Given the description of an element on the screen output the (x, y) to click on. 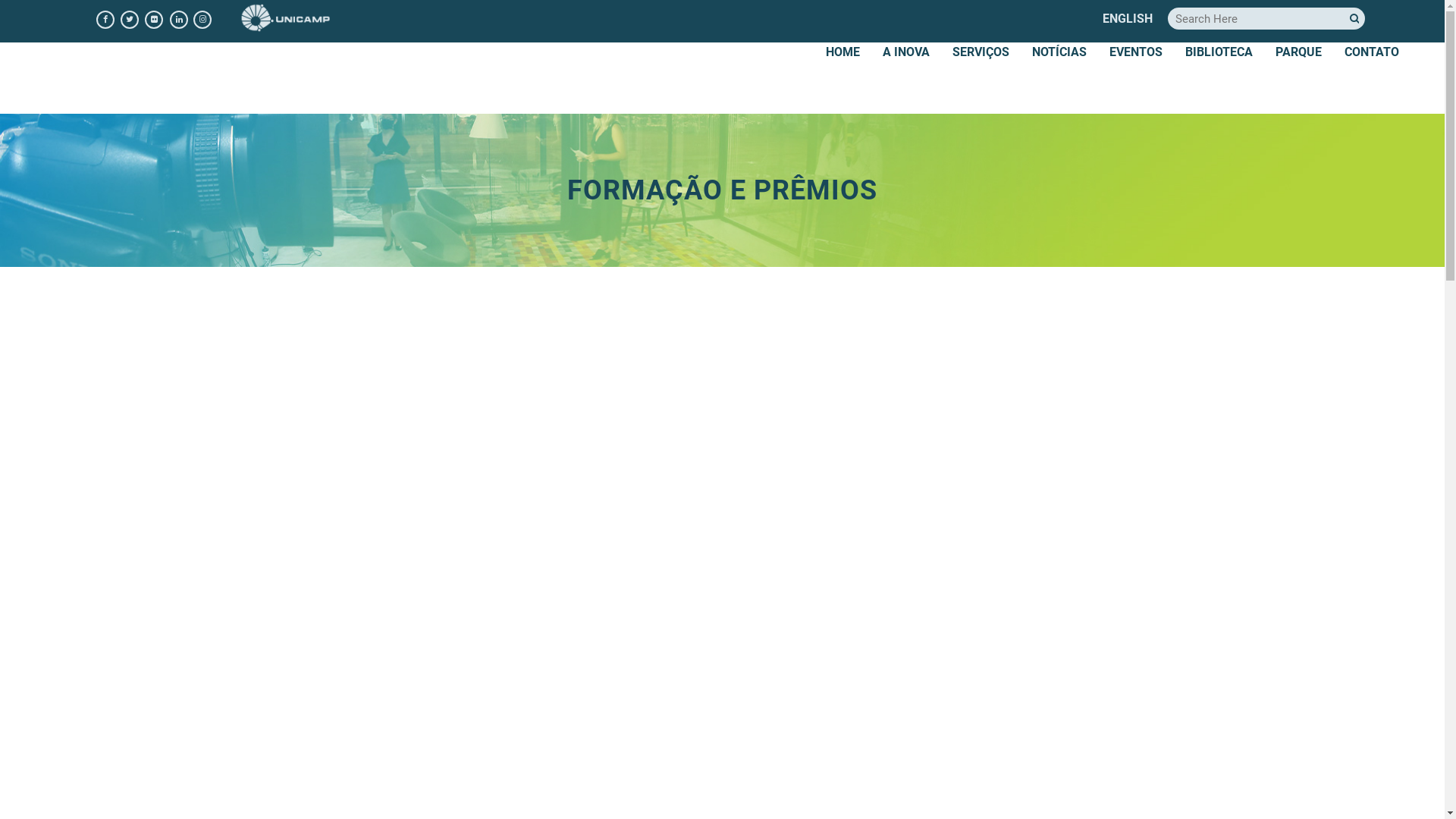
HOME Element type: text (842, 51)
A INOVA Element type: text (906, 51)
BIBLIOTECA Element type: text (1218, 51)
CONTATO Element type: text (1371, 51)
ENGLISH Element type: text (1127, 18)
PARQUE Element type: text (1298, 51)
EVENTOS Element type: text (1135, 51)
